Given the description of an element on the screen output the (x, y) to click on. 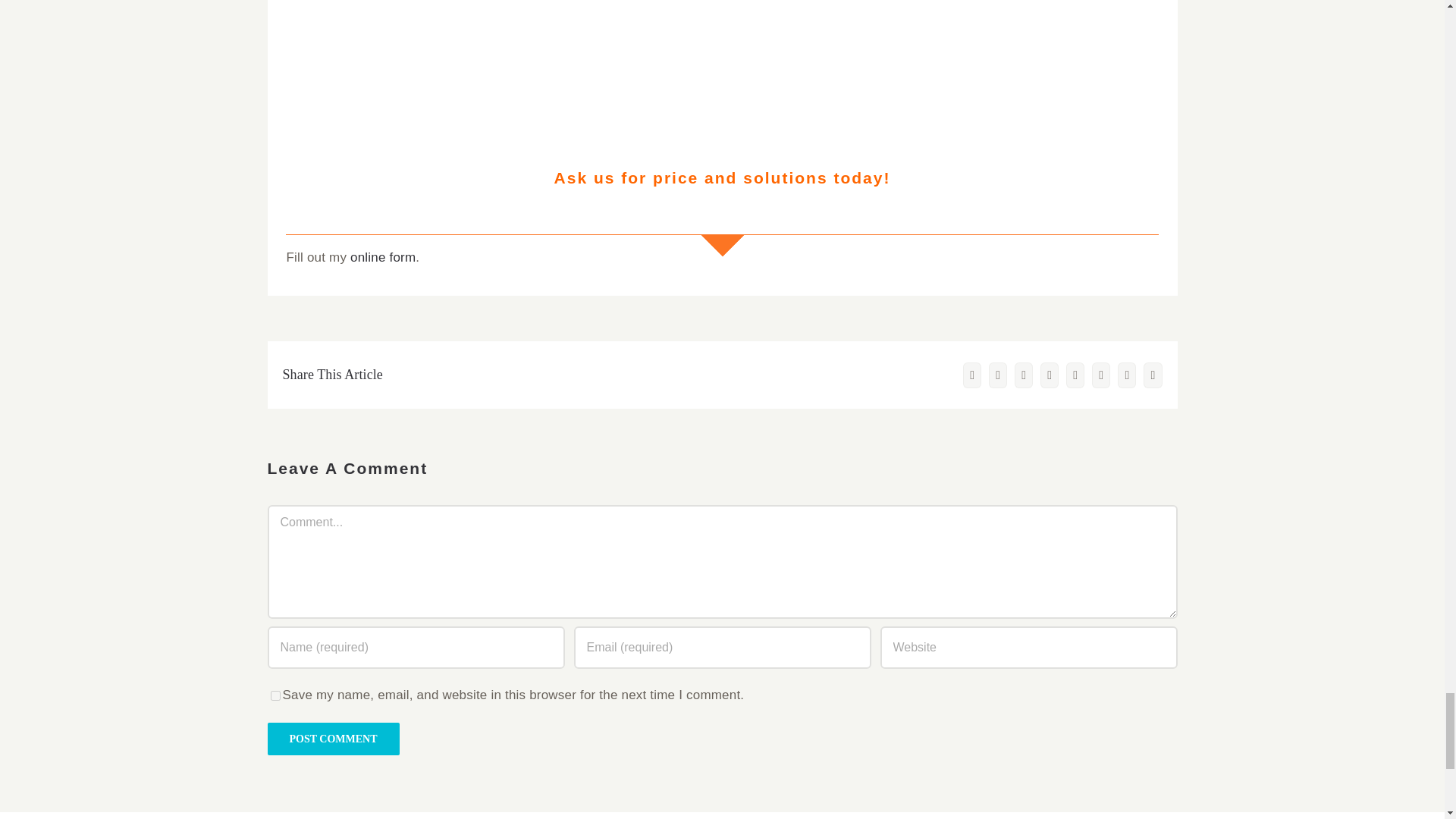
Fill out my online form. (721, 261)
Post Comment (332, 738)
yes (274, 696)
